Given the description of an element on the screen output the (x, y) to click on. 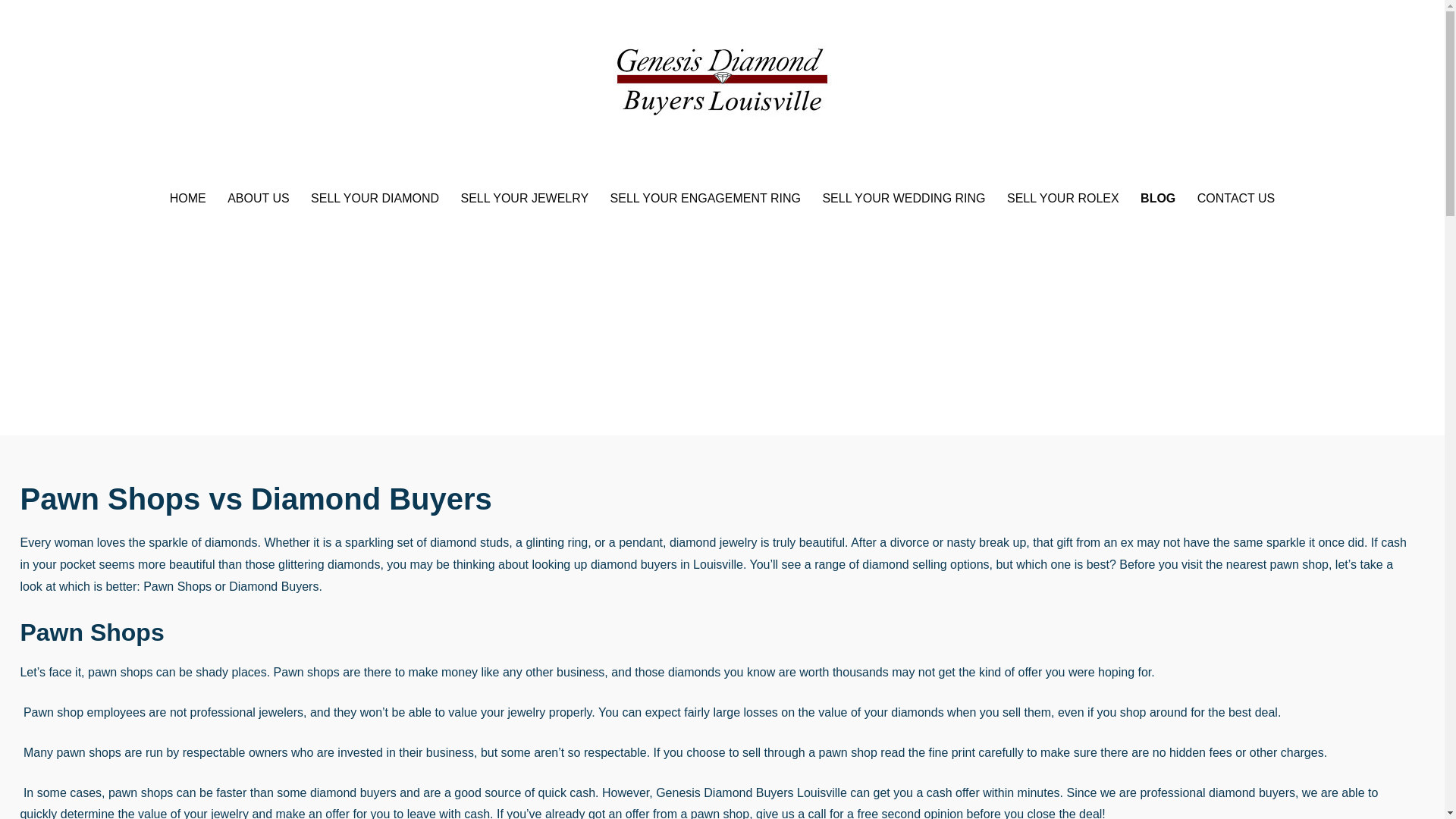
BLOG (1158, 198)
SELL YOUR WEDDING RING (903, 198)
CONTACT US (1236, 198)
SELL YOUR DIAMOND (374, 198)
SELL YOUR ENGAGEMENT RING (705, 198)
ABOUT US (258, 198)
SELL YOUR JEWELRY (524, 198)
sell your diamond nashville (374, 198)
HOME (187, 198)
sell your engagement ring nashville (1236, 198)
SELL YOUR ROLEX (1062, 198)
